Given the description of an element on the screen output the (x, y) to click on. 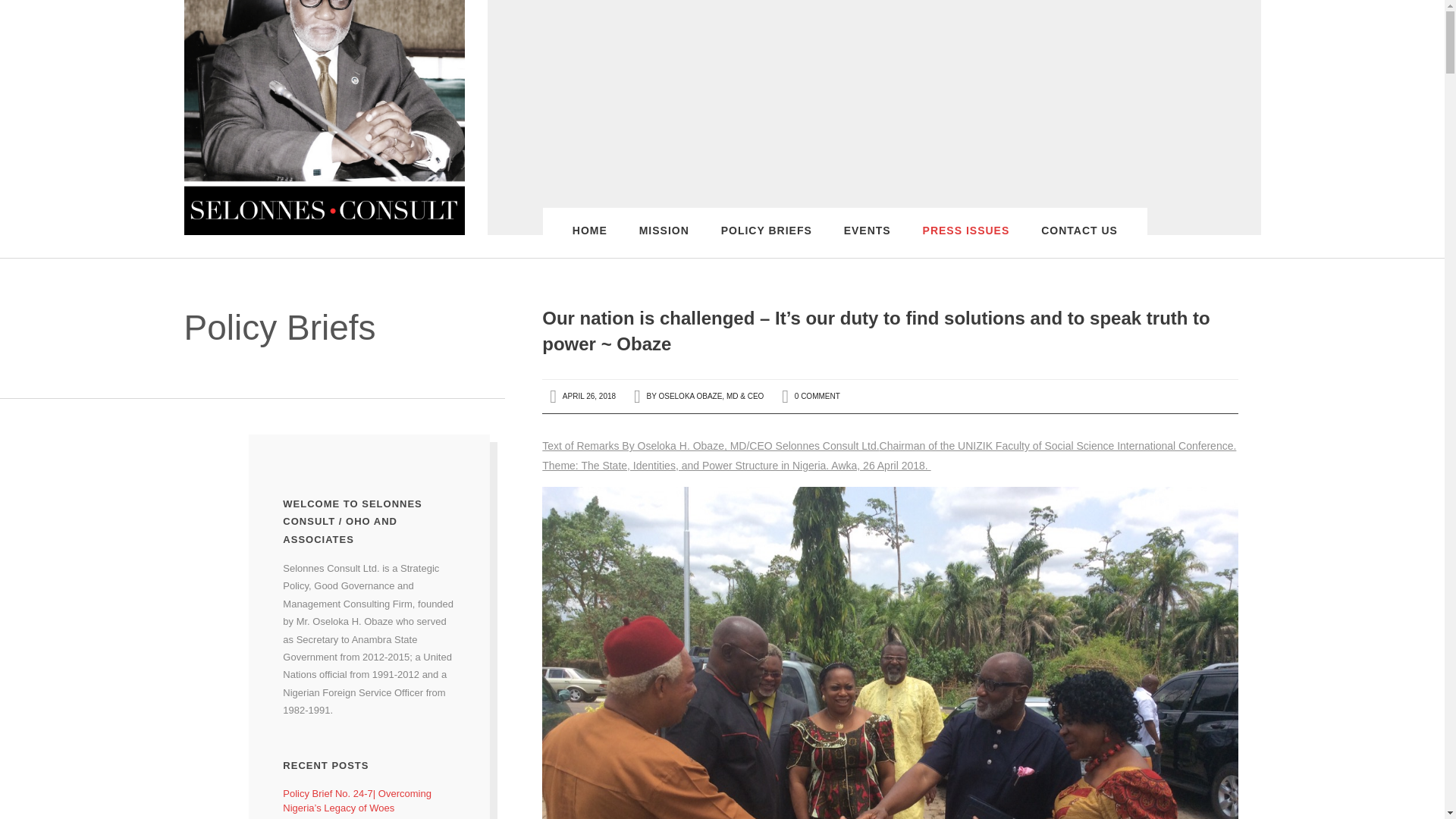
Selonnes Consult (323, 117)
PRESS ISSUES (966, 241)
EVENTS (867, 241)
CONTACT US (1079, 241)
HOME (589, 241)
0 COMMENT (817, 396)
POLICY BRIEFS (766, 241)
MISSION (663, 241)
